Given the description of an element on the screen output the (x, y) to click on. 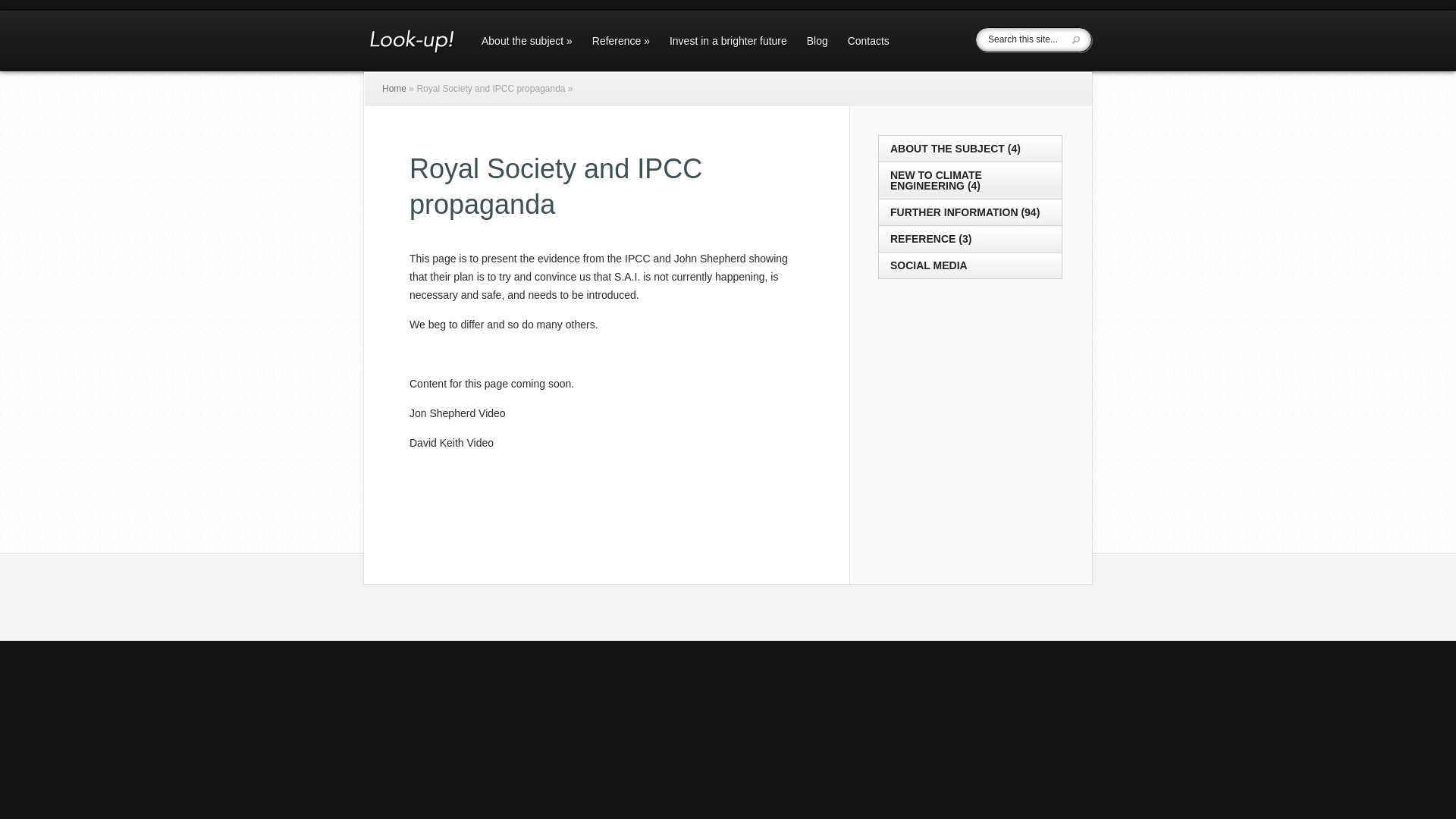
Blog (816, 53)
Home (393, 88)
Search this site... (1029, 39)
Search this site... (1029, 39)
Contacts (869, 53)
Invest in a brighter future (727, 53)
